Given the description of an element on the screen output the (x, y) to click on. 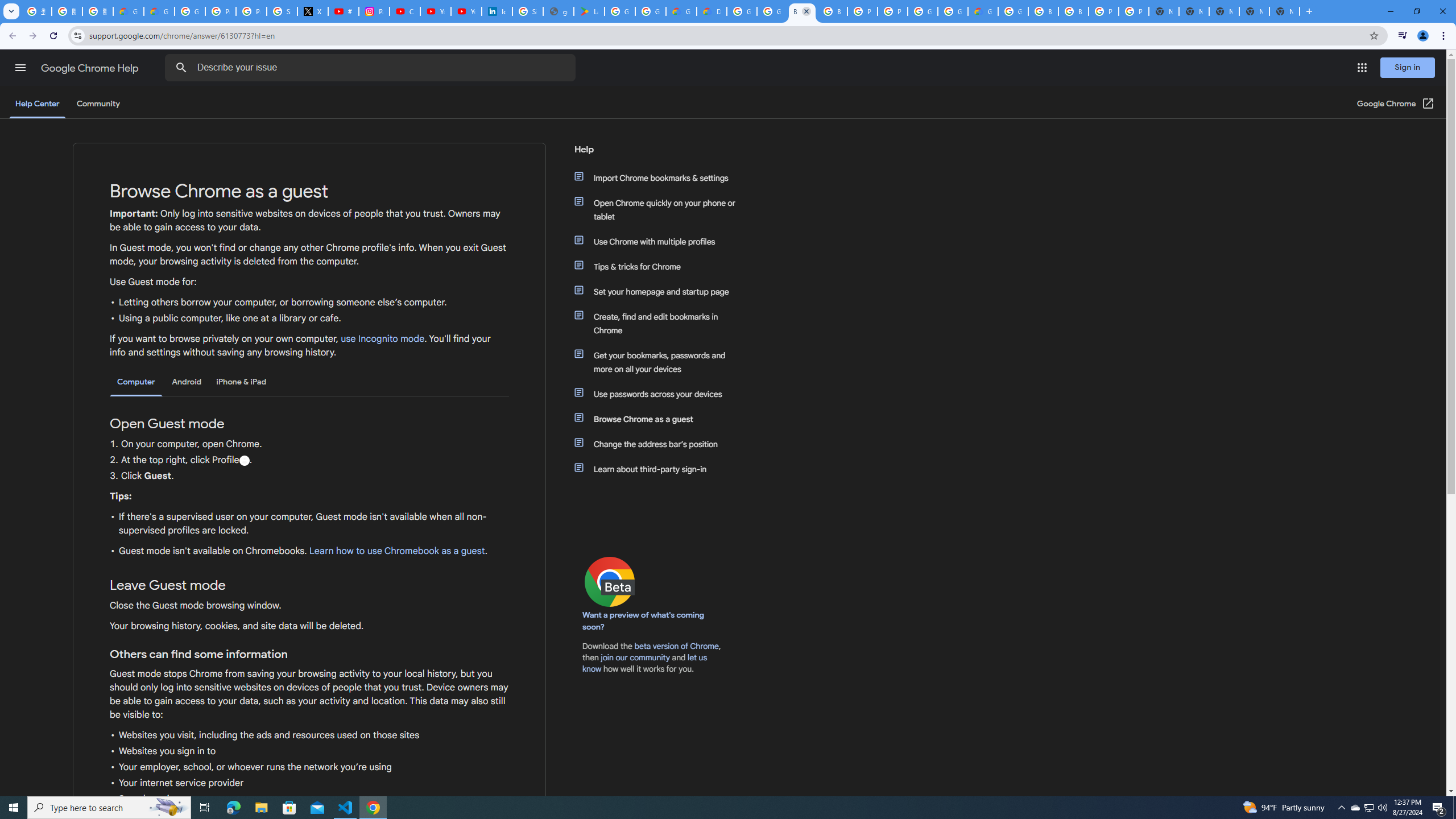
Google Cloud Privacy Notice (158, 11)
Android (186, 381)
Sign in - Google Accounts (282, 11)
Google Workspace - Specific Terms (650, 11)
#nbabasketballhighlights - YouTube (343, 11)
X (312, 11)
Government | Google Cloud (681, 11)
Use passwords across your devices (661, 394)
Privacy Help Center - Policies Help (251, 11)
